Given the description of an element on the screen output the (x, y) to click on. 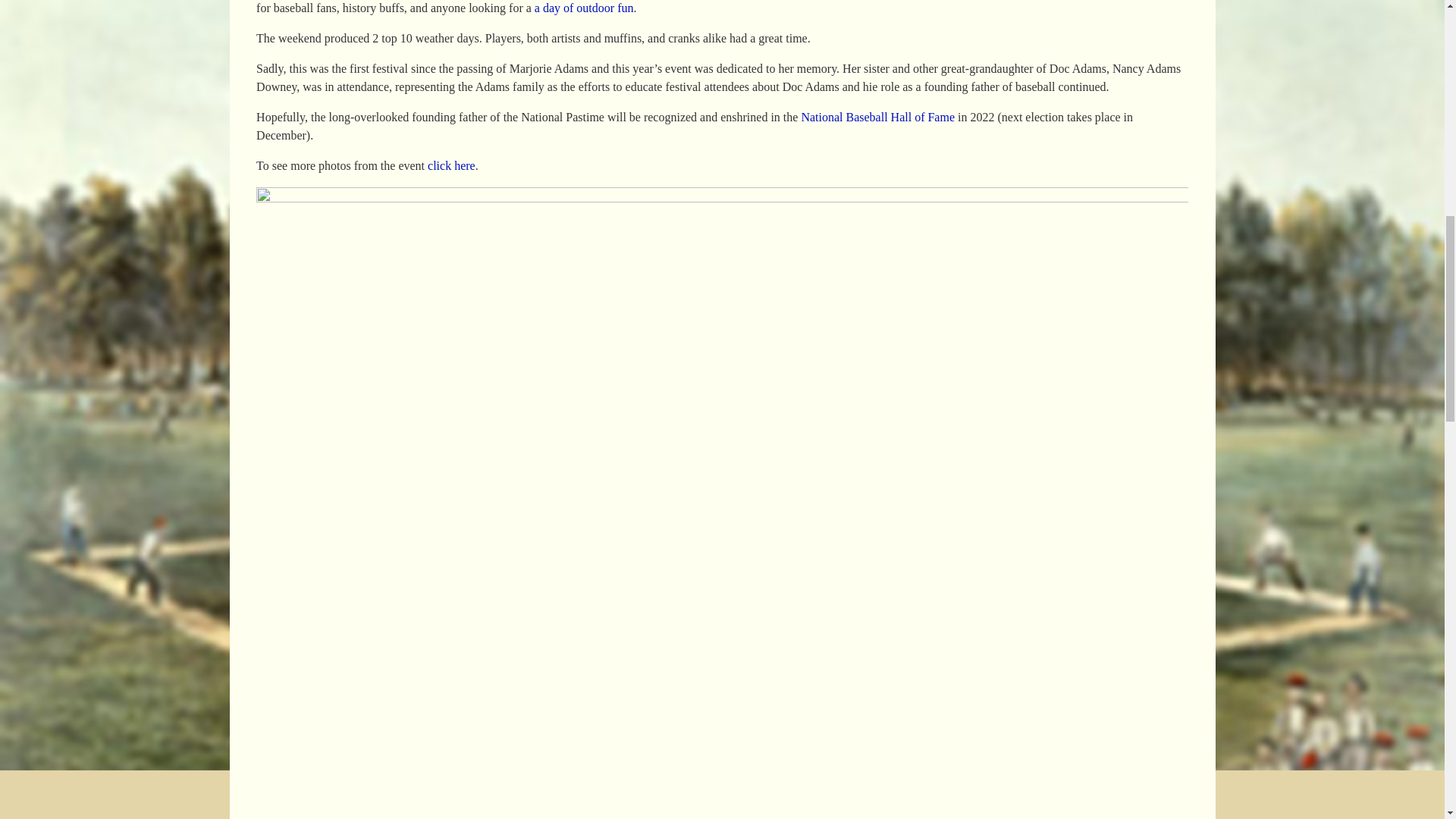
click here (452, 164)
National Baseball Hall of Fame (877, 116)
a day of outdoor fun (583, 7)
